Given the description of an element on the screen output the (x, y) to click on. 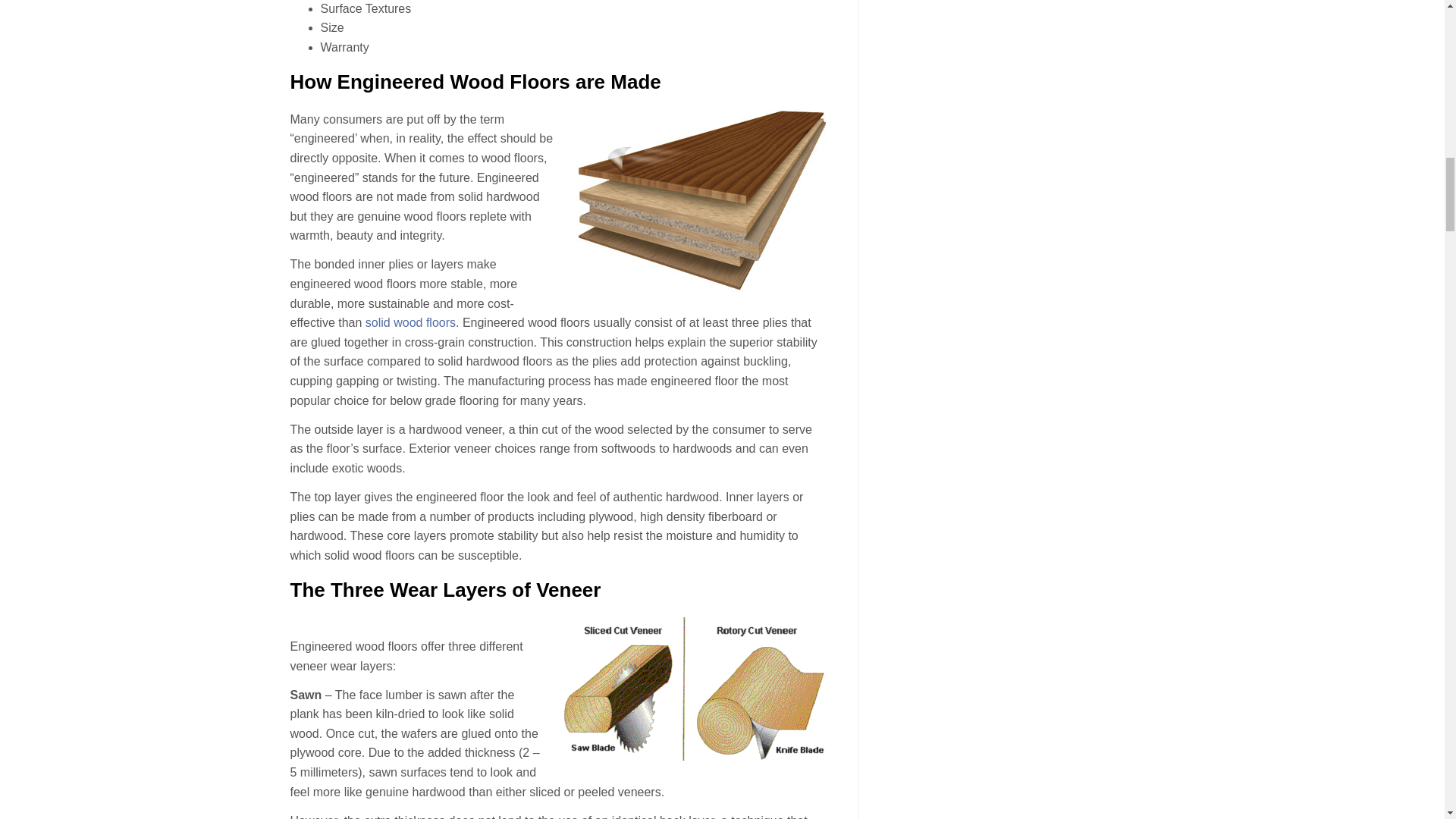
solid wood floors (410, 322)
